Given the description of an element on the screen output the (x, y) to click on. 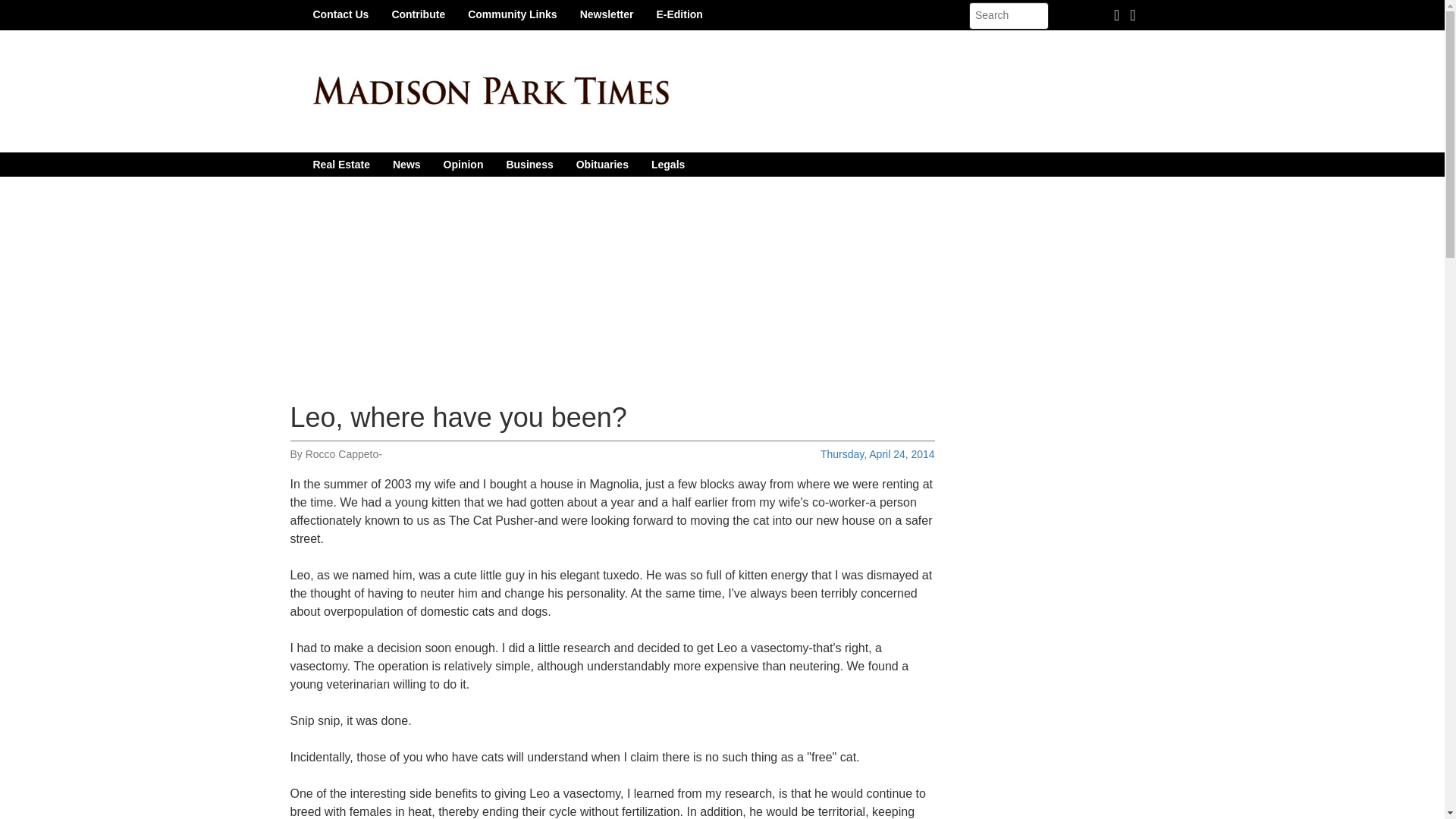
Real Estate (341, 164)
News (406, 164)
Legals (667, 164)
Obituaries (602, 164)
Opinion (463, 164)
Community Links (512, 14)
Thursday, April 24, 2014 (877, 453)
Contact Us (340, 14)
Newsletter (607, 14)
E-Edition (679, 14)
Business (529, 164)
Contribute (418, 14)
